Given the description of an element on the screen output the (x, y) to click on. 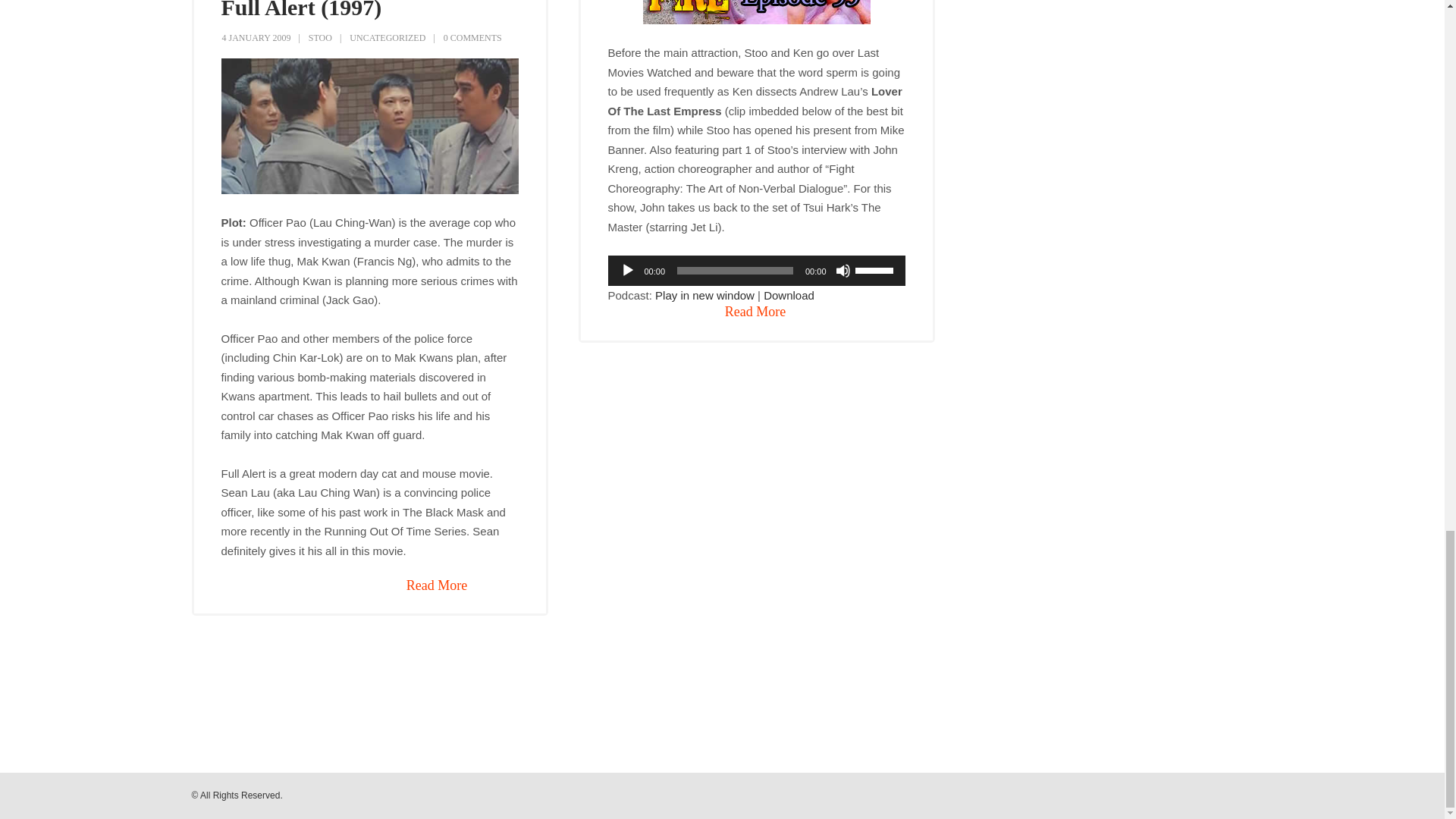
Download (787, 295)
FullAlert (369, 126)
Mute (842, 270)
Play in new window (704, 295)
Read More (755, 312)
Play (627, 270)
podcast53 (756, 12)
